Given the description of an element on the screen output the (x, y) to click on. 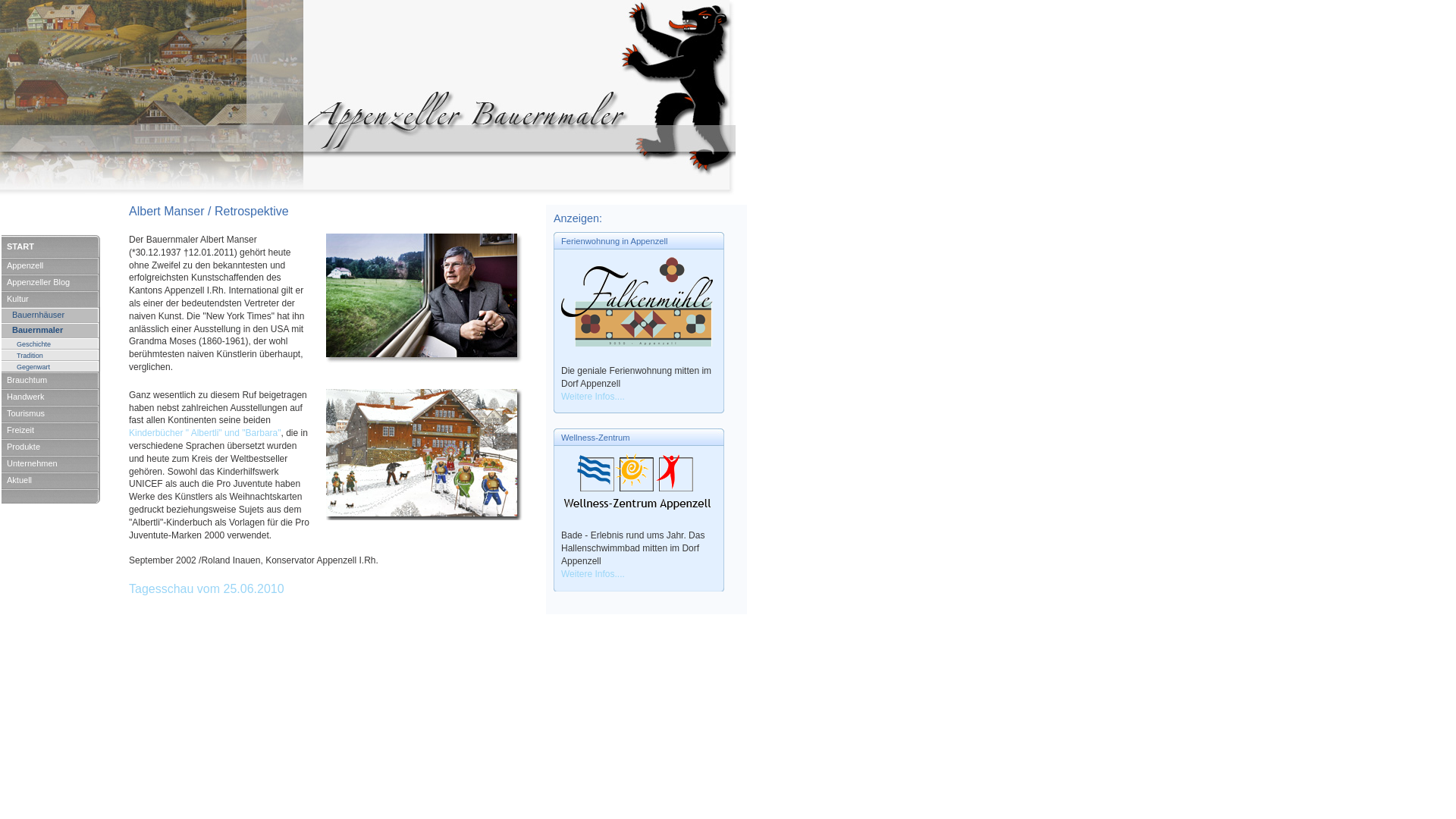
Tourismus Element type: text (50, 412)
Tradition Element type: text (50, 354)
Kultur Element type: text (50, 298)
Gegenwart Element type: text (50, 365)
Unternehmen Element type: text (50, 463)
Handwerk Element type: text (50, 396)
Geschichte Element type: text (50, 342)
Aktuell Element type: text (50, 479)
Brauchtum Element type: text (50, 379)
Appenzell Element type: text (50, 265)
Appenzeller Blog Element type: text (50, 281)
Bauernmaler Element type: text (50, 329)
Tagesschau vom 25.06.2010 Element type: text (206, 588)
Freizeit Element type: text (50, 429)
Weitere Infos.... Element type: text (592, 573)
Produkte Element type: text (50, 446)
Weitere Infos.... Element type: text (592, 396)
START Element type: text (50, 246)
